Given the description of an element on the screen output the (x, y) to click on. 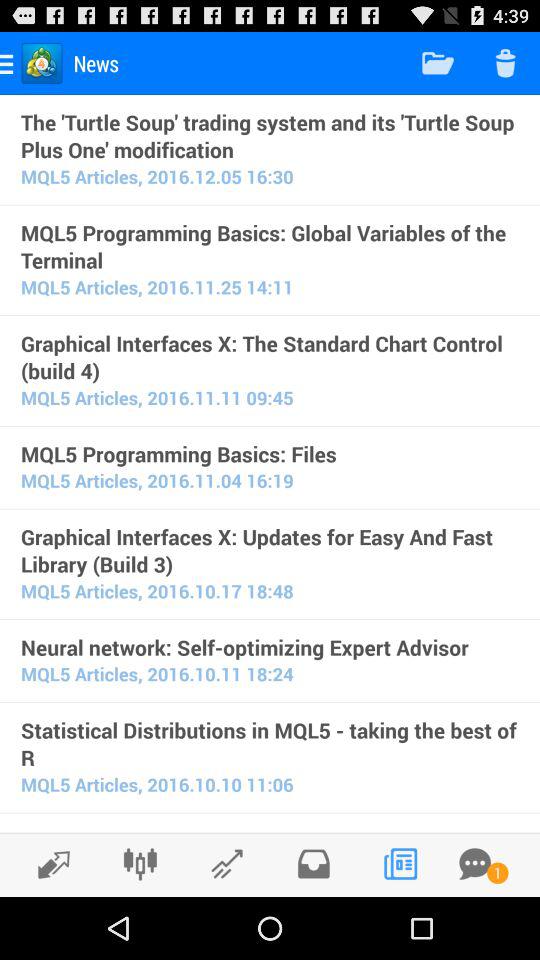
select the icon below the mql5 articles 2016 icon (270, 829)
